Given the description of an element on the screen output the (x, y) to click on. 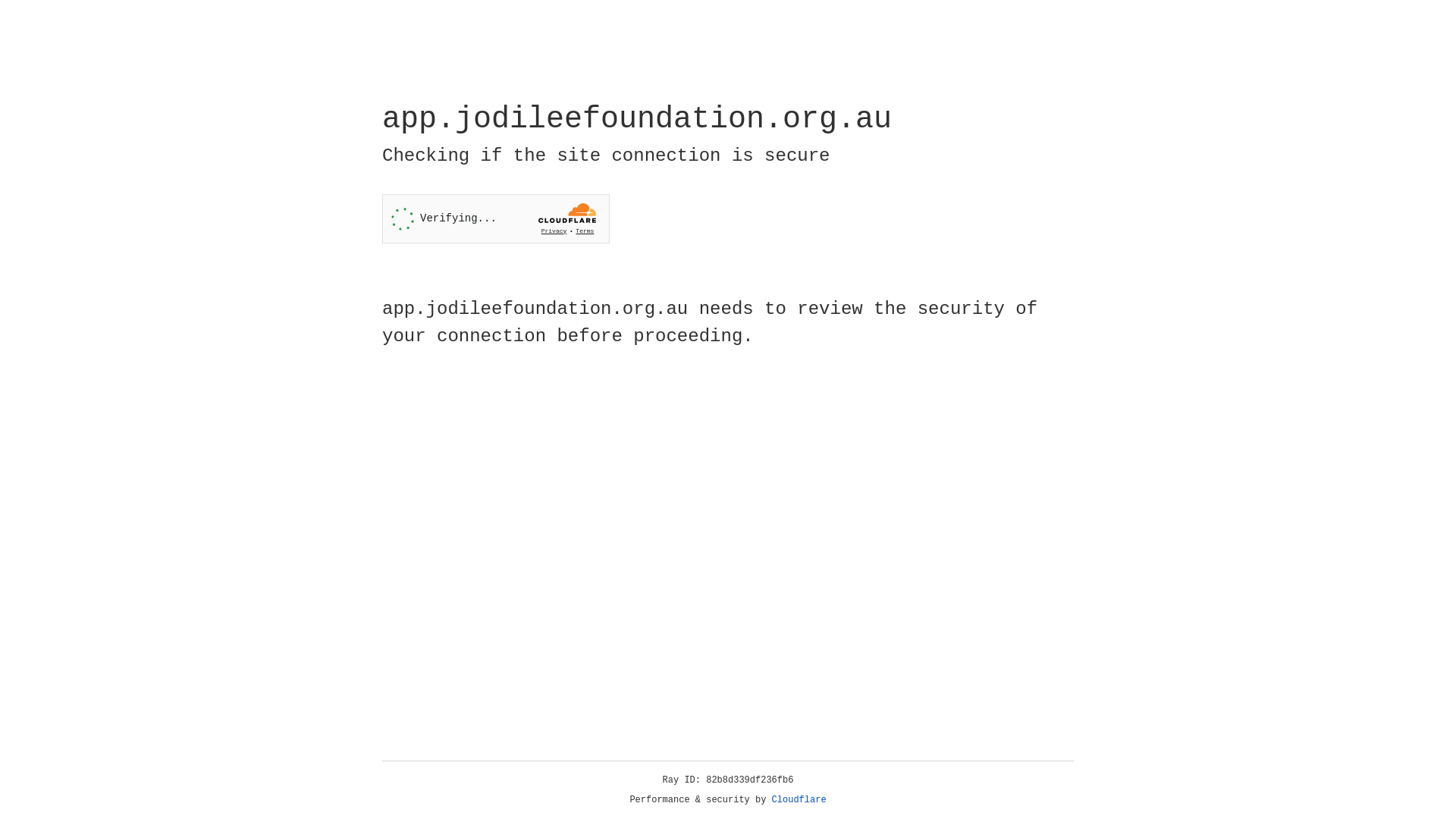
Cloudflare Element type: text (798, 799)
Widget containing a Cloudflare security challenge Element type: hover (495, 218)
